Given the description of an element on the screen output the (x, y) to click on. 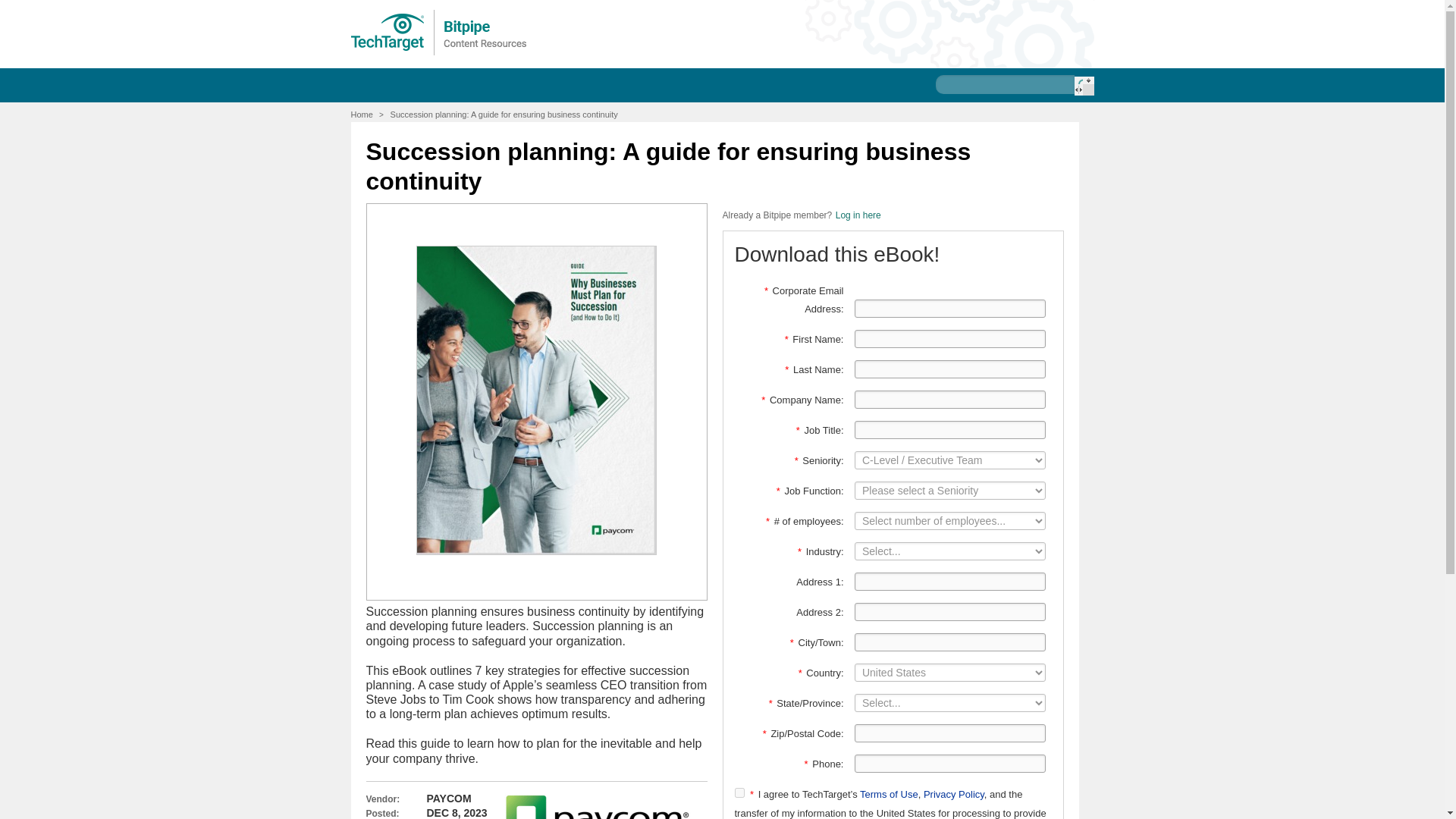
Home (361, 113)
Search (1083, 85)
Bitpipe (439, 32)
Terms of Use (889, 794)
Search (1083, 85)
Log in here (857, 214)
Privacy Policy (953, 794)
true (738, 792)
